Given the description of an element on the screen output the (x, y) to click on. 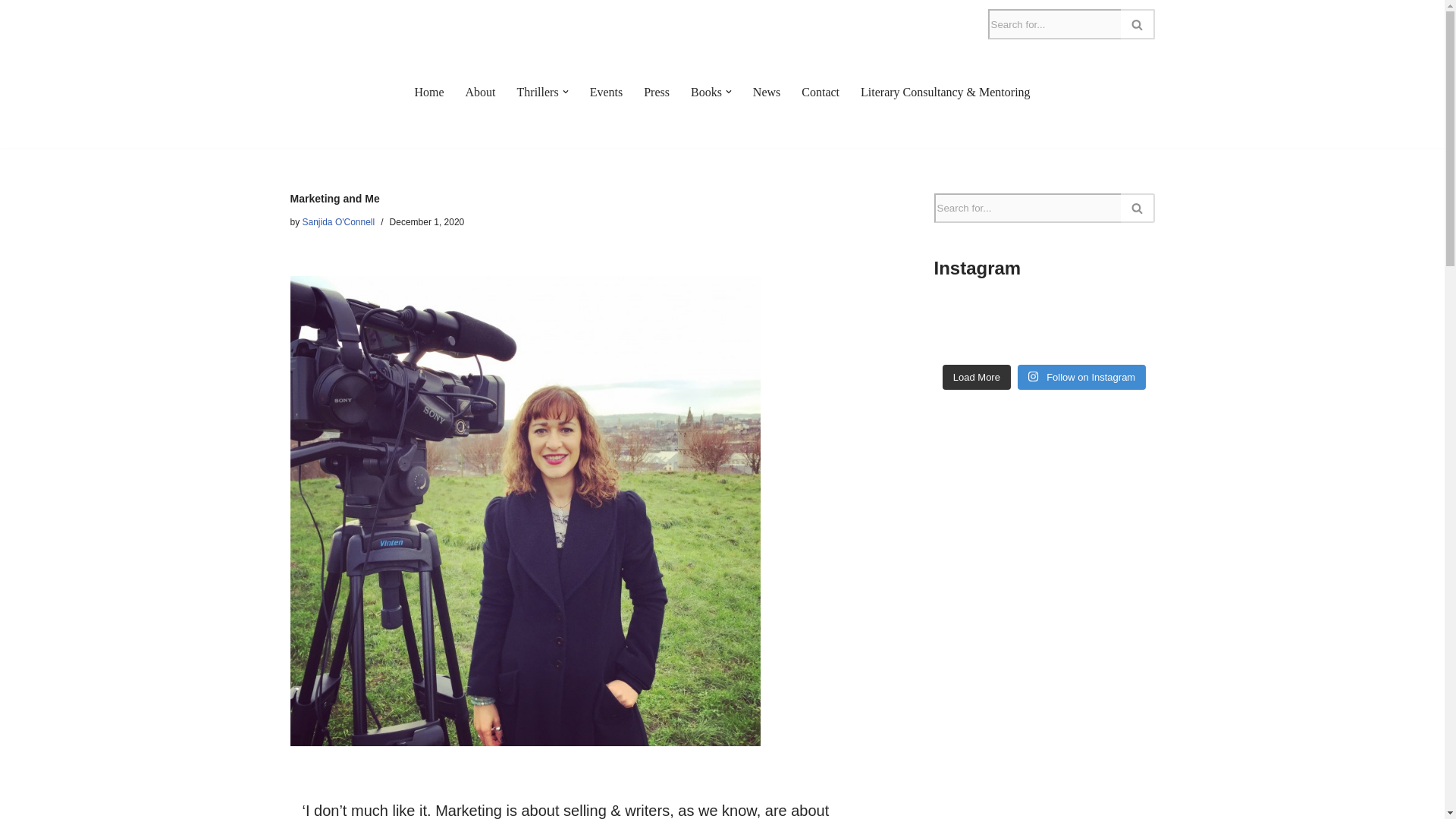
Press (656, 91)
Contact (821, 91)
Events (606, 91)
Books (706, 91)
Posts by Sanjida O'Connell (338, 222)
Home (428, 91)
About (480, 91)
News (766, 91)
Skip to content (11, 31)
Thrillers (537, 91)
